Given the description of an element on the screen output the (x, y) to click on. 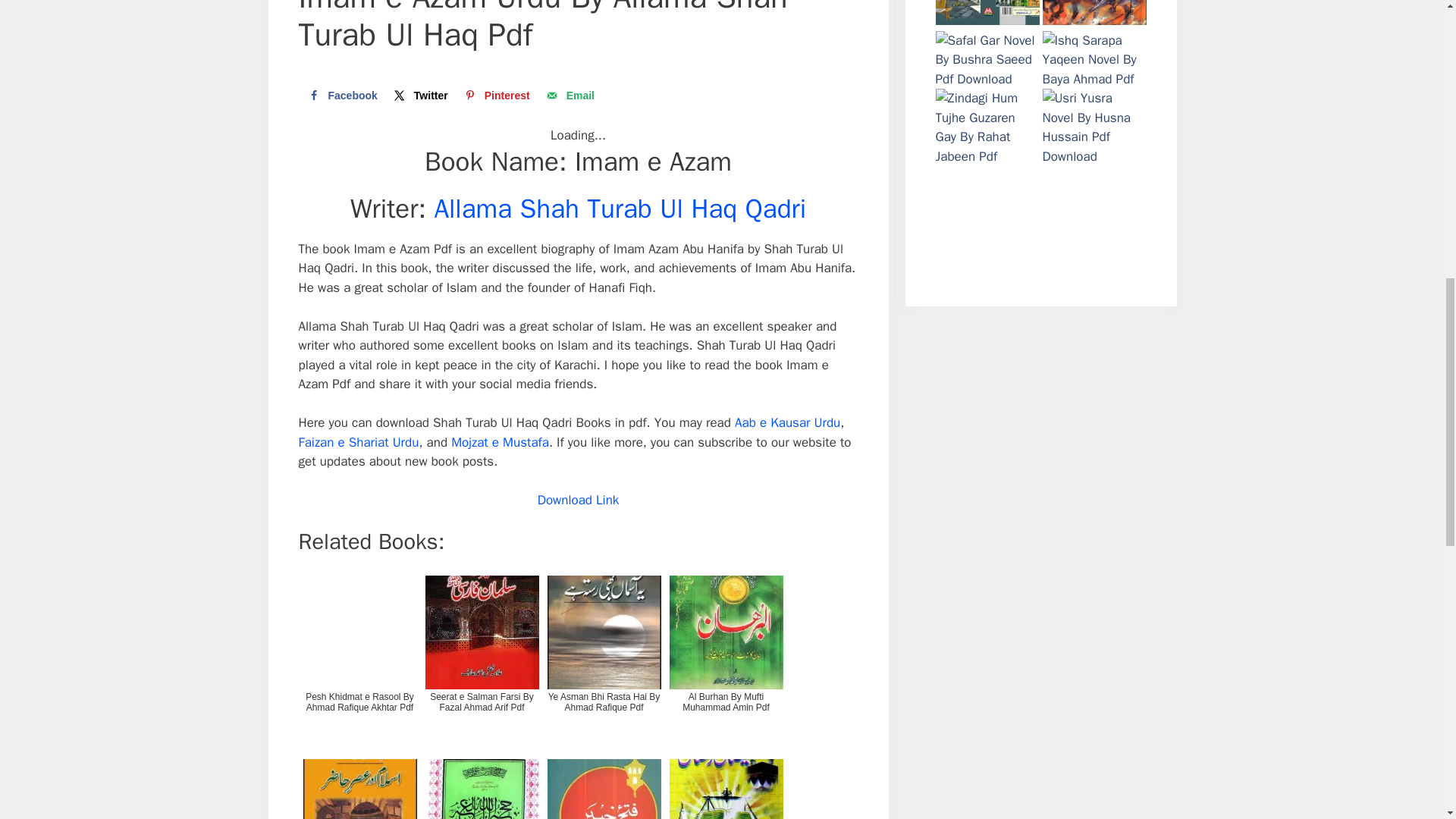
Download Link (578, 499)
Faizan e Ramzan Urdu By Allama Alam Faqri Pdf (725, 786)
Fatah e Khyber By Muhammad Ahmad Bashmail Pdf (604, 786)
Islam Aur Asr e Hazir By Prof Ahmed Rafique Pdf (360, 786)
Usri Yusra Novel By Husna Hussain Pdf Download (1093, 127)
Aab e Kausar Urdu (787, 422)
Faizan e Shariat Urdu (358, 442)
Allama Shah Turab Ul Haq Qadri (619, 208)
Share on Facebook (341, 95)
Nagin Novel Complete By Ijaz Ahmad Nawab Pdf (987, 221)
Jo Bache Hain Sang Samait Lo By Farhat Ishtiaq Pdf (987, 15)
Zindagi Hum Tujhe Guzaren Gay By Rahat Jabeen Pdf (987, 127)
Facebook (341, 95)
Mojzat e Mustafa (499, 442)
Qaisar O Kisra Novel By Naseem Hijazi Pdf (1093, 15)
